Given the description of an element on the screen output the (x, y) to click on. 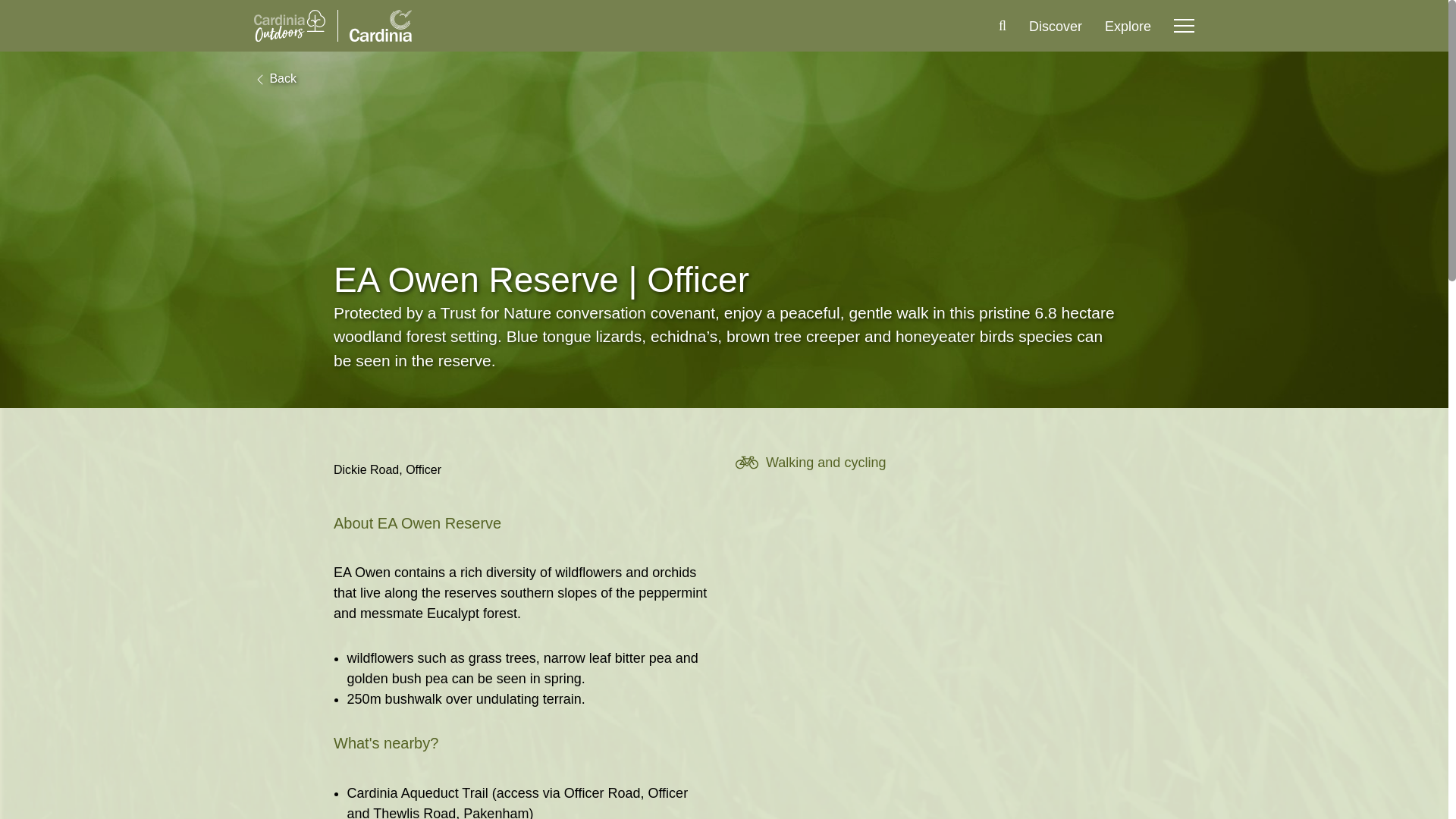
Back (275, 78)
Explore (1128, 25)
Discover (1055, 25)
